Given the description of an element on the screen output the (x, y) to click on. 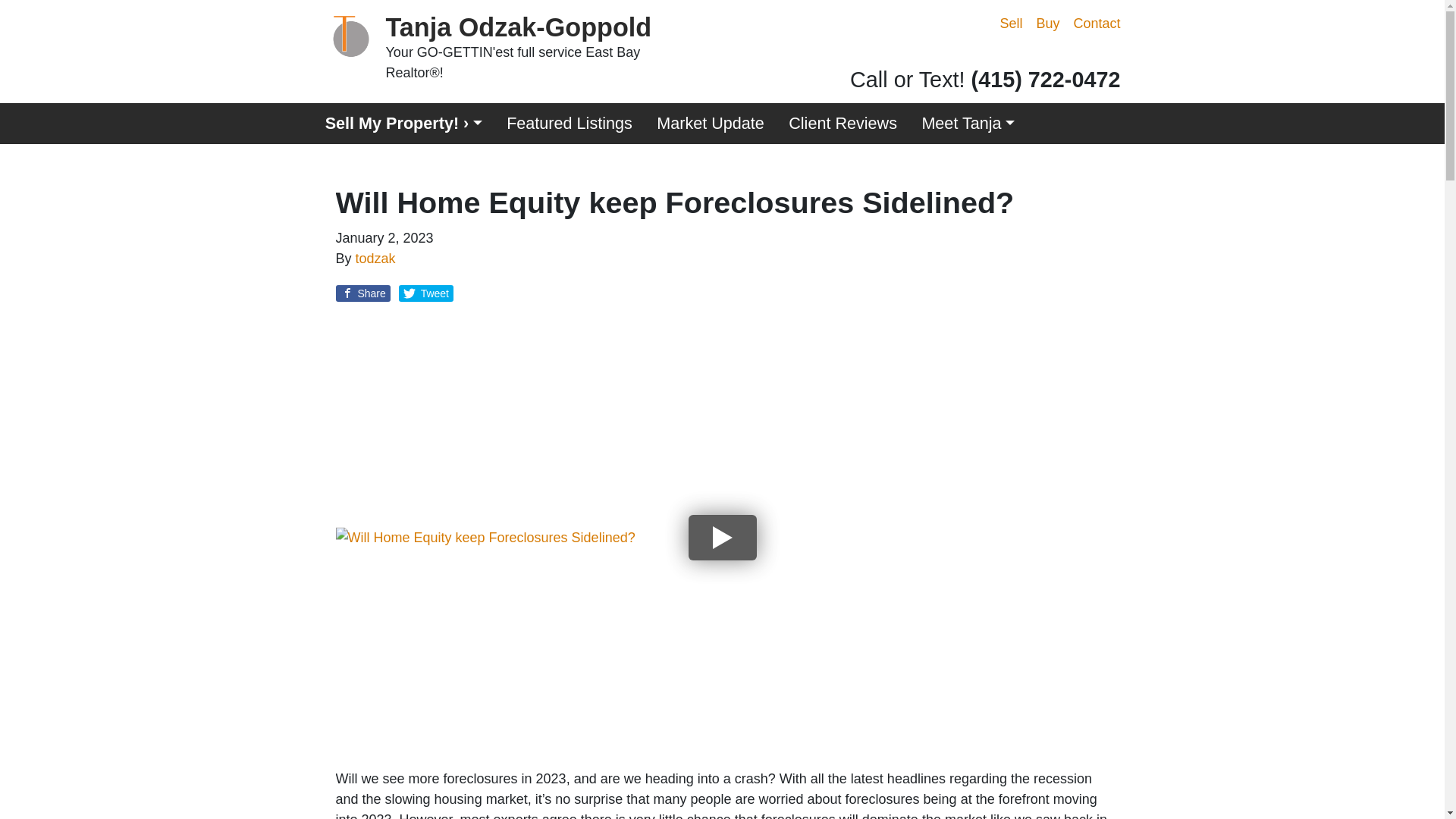
todzak (375, 258)
Featured Listings (570, 123)
Meet Tanja (967, 123)
YouTube (1048, 54)
Client Reviews (842, 123)
Facebook (1026, 54)
Featured Listings (570, 123)
Market Update (710, 123)
Meet Tanja (967, 123)
Share on Twitter (425, 293)
